Given the description of an element on the screen output the (x, y) to click on. 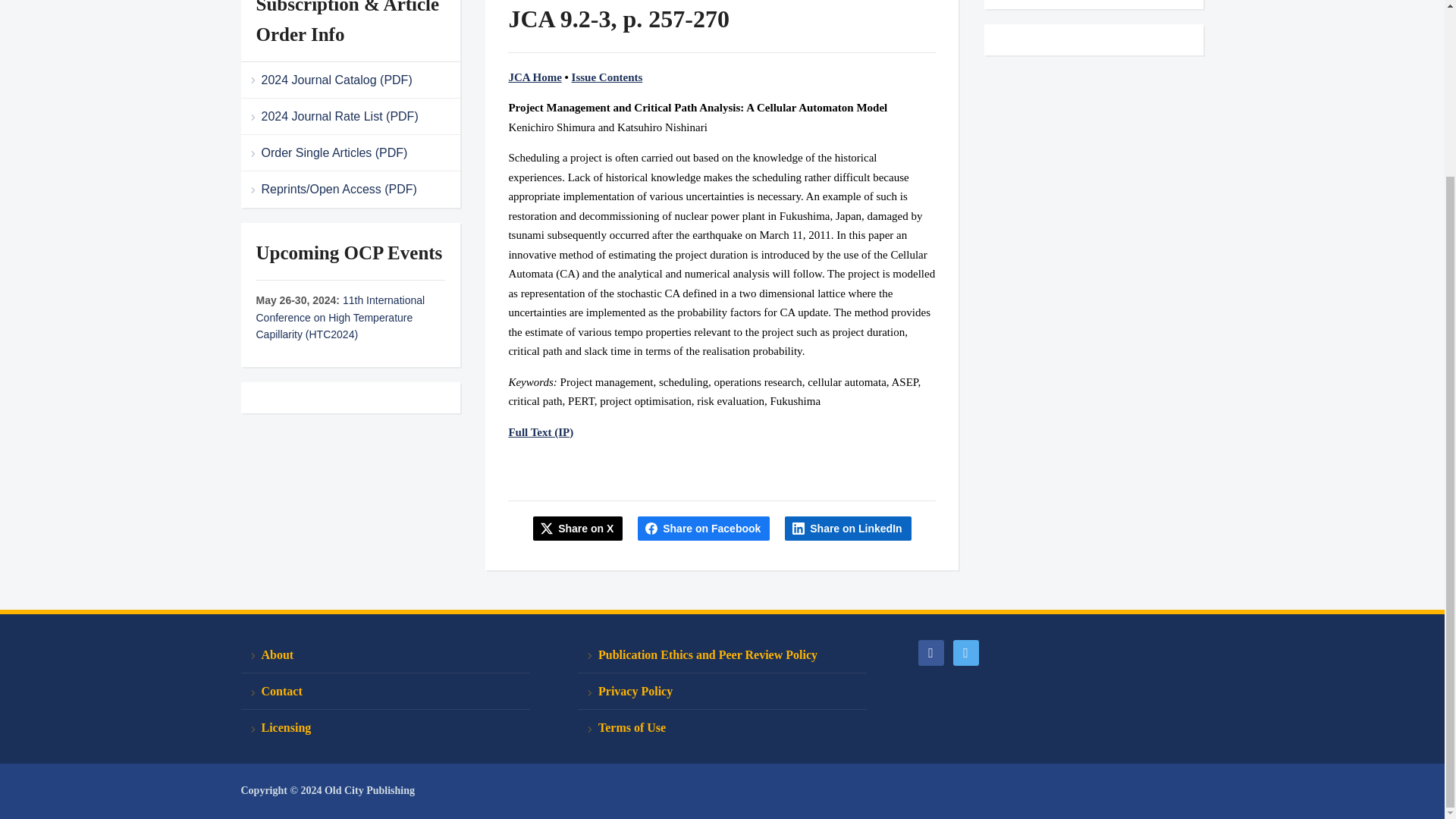
Publication Ethics and Peer Review Policy (722, 655)
Share on LinkedIn (847, 528)
JCA Home (534, 77)
Share on LinkedIn (847, 528)
Privacy Policy (722, 691)
Follow Me (965, 651)
Share this on X (577, 528)
About (385, 655)
Share on Facebook (703, 528)
Licensing (385, 727)
Share this on Facebook (703, 528)
twitter (965, 651)
Share on X (577, 528)
facebook (930, 651)
Contact (385, 691)
